Given the description of an element on the screen output the (x, y) to click on. 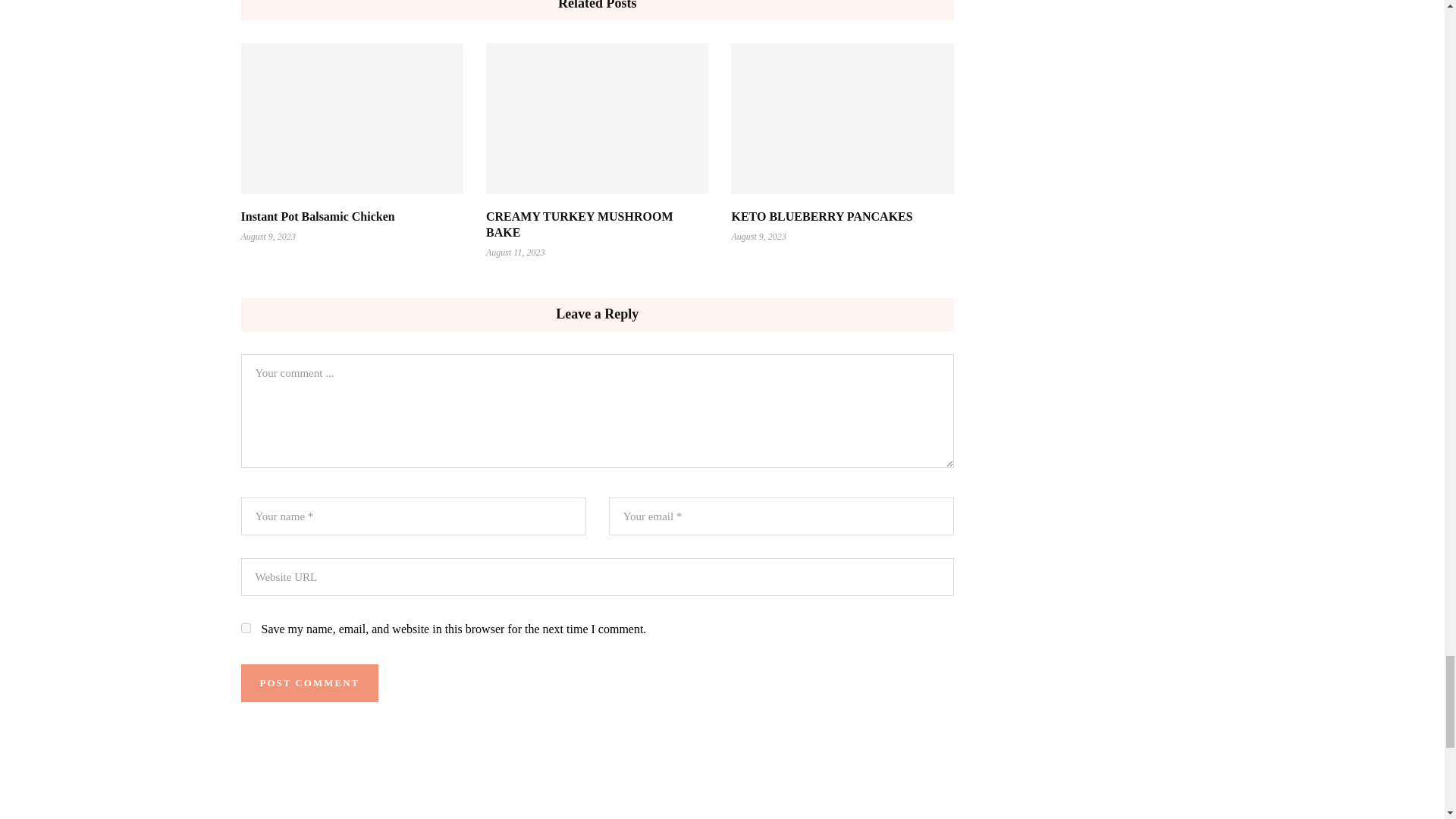
yes (245, 628)
Post Comment (309, 682)
